Given the description of an element on the screen output the (x, y) to click on. 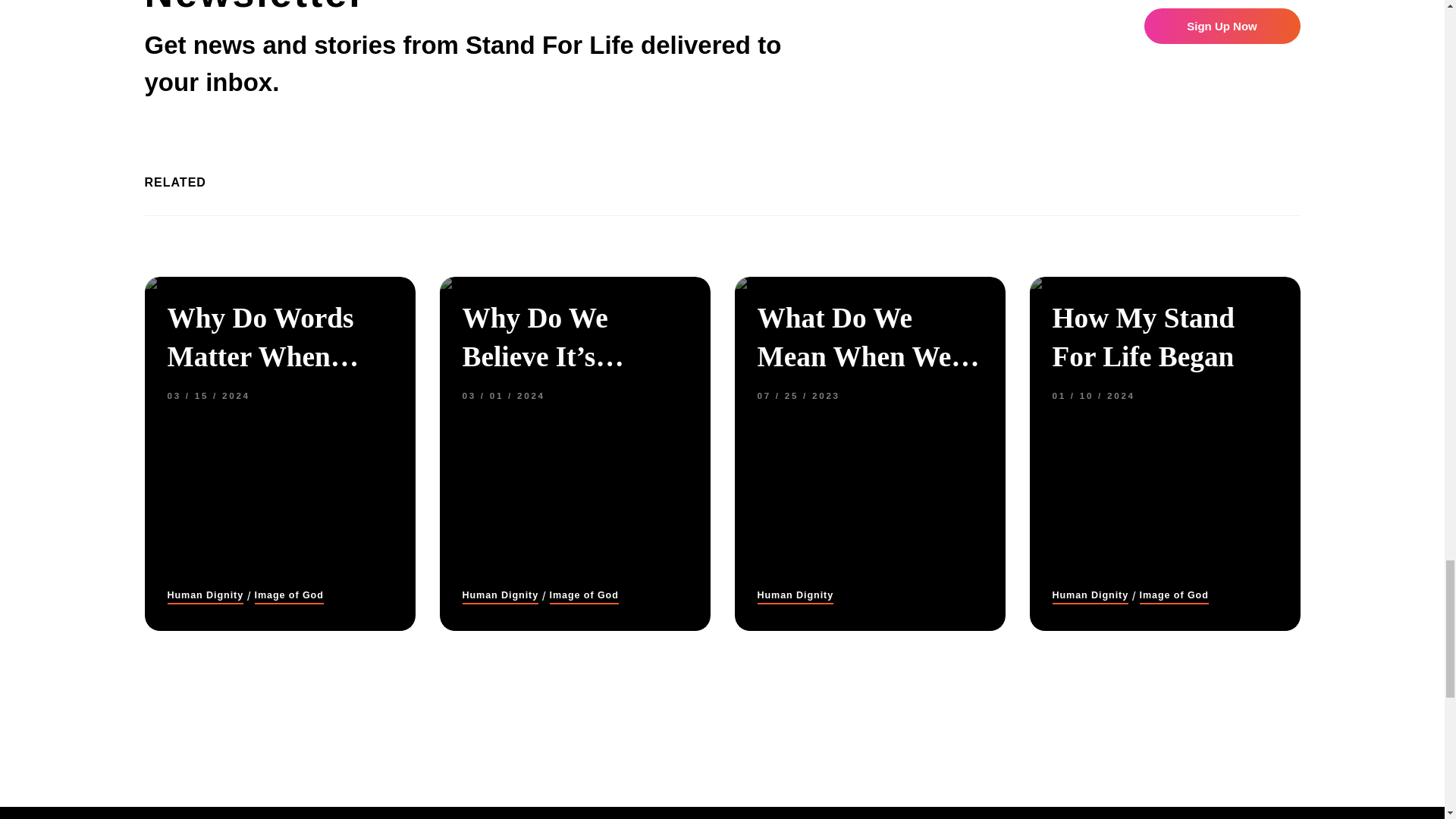
Sign Up Now (1221, 26)
Image of God (584, 594)
Image of God (288, 594)
Human Dignity (500, 594)
Human Dignity (794, 594)
Human Dignity (205, 594)
